Given the description of an element on the screen output the (x, y) to click on. 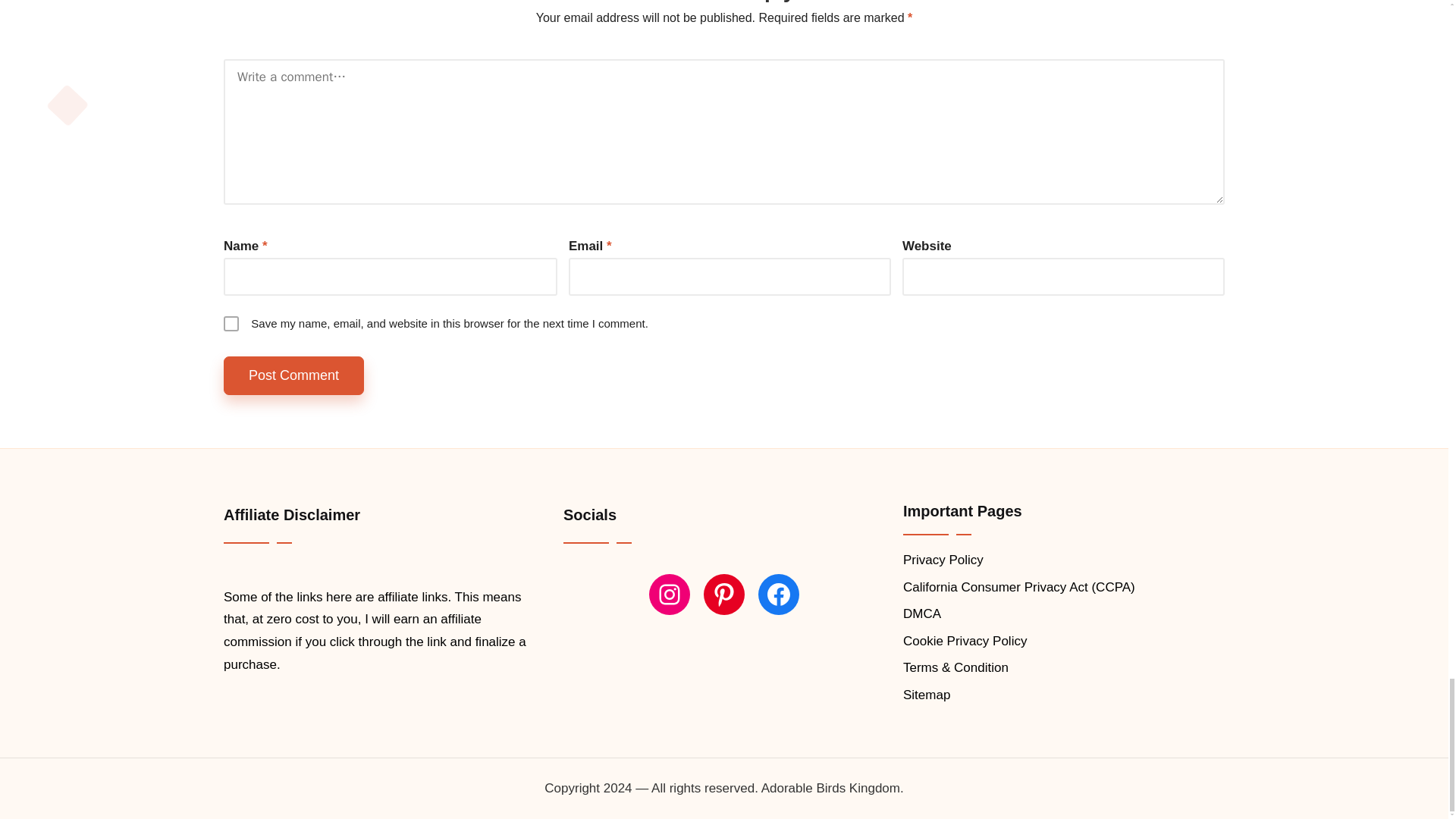
Post Comment (294, 375)
yes (231, 323)
